Given the description of an element on the screen output the (x, y) to click on. 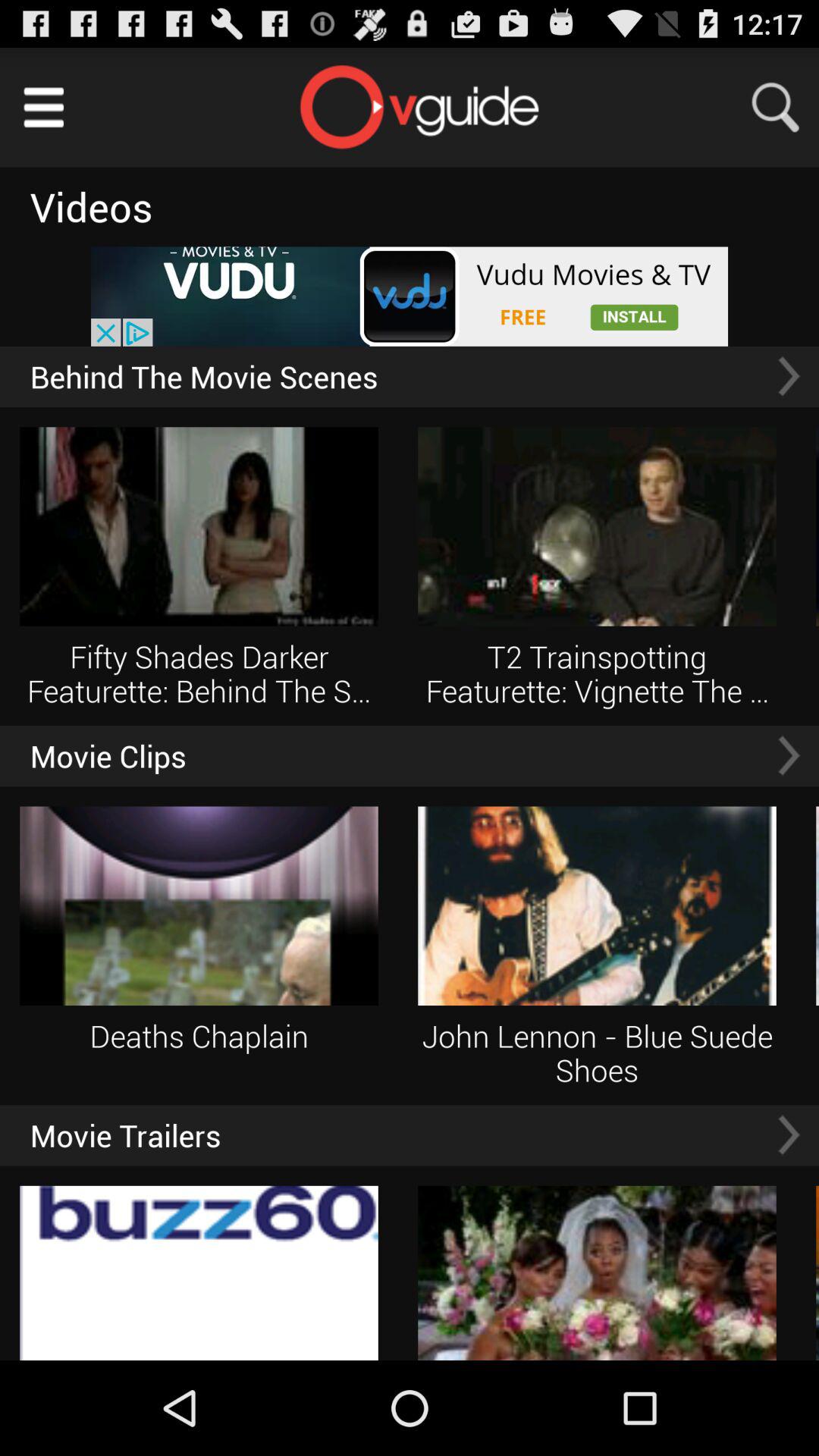
go next movie trailers (789, 1134)
